Given the description of an element on the screen output the (x, y) to click on. 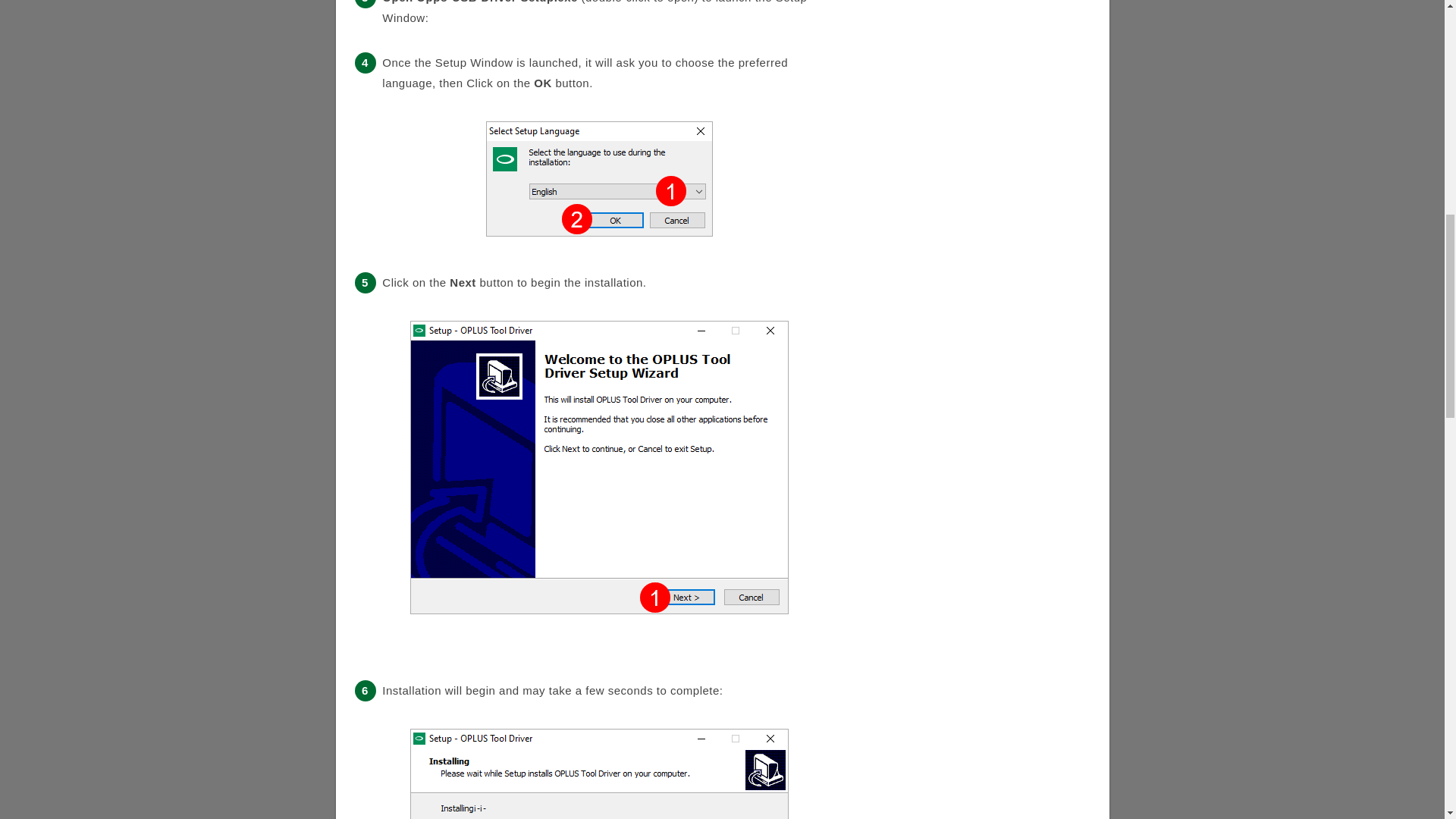
Advertisement (976, 21)
